Given the description of an element on the screen output the (x, y) to click on. 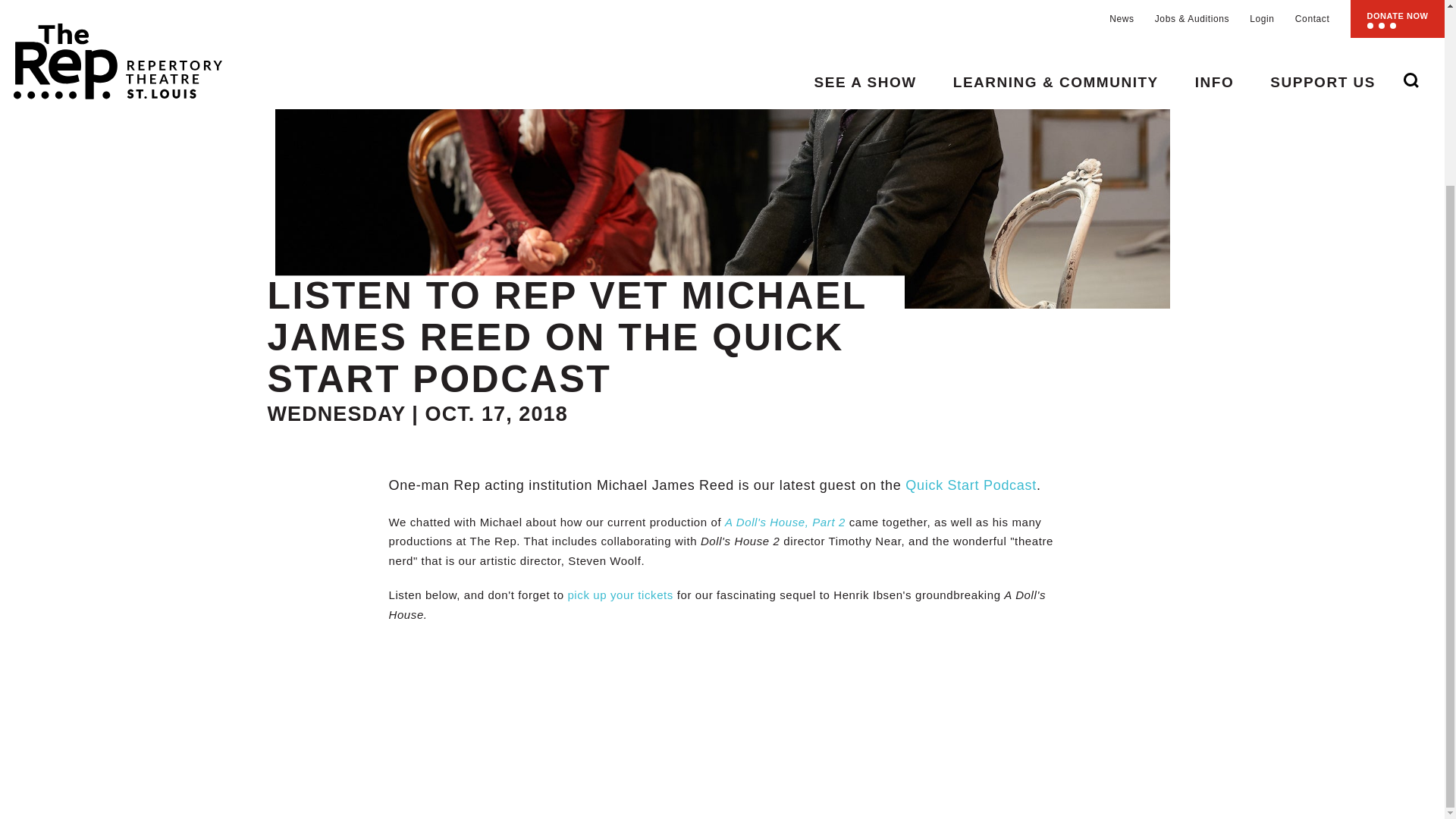
Quick Start Podcast (970, 485)
pick up your tickets (619, 594)
A Doll's House, Part 2 (785, 521)
